Given the description of an element on the screen output the (x, y) to click on. 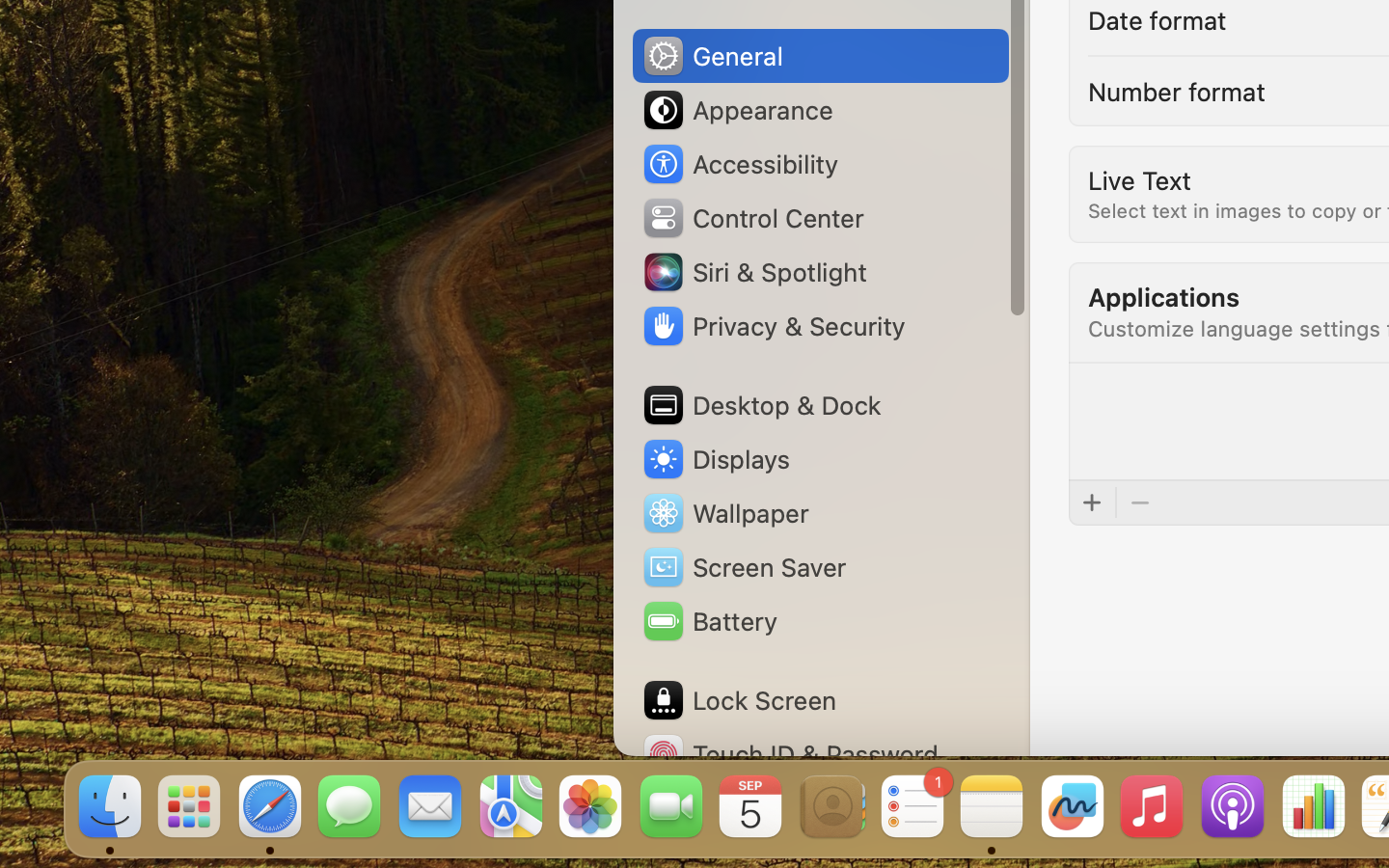
Privacy & Security Element type: AXStaticText (772, 325)
Touch ID & Password Element type: AXStaticText (789, 754)
Lock Screen Element type: AXStaticText (738, 700)
Number format Element type: AXStaticText (1176, 90)
Displays Element type: AXStaticText (715, 458)
